Given the description of an element on the screen output the (x, y) to click on. 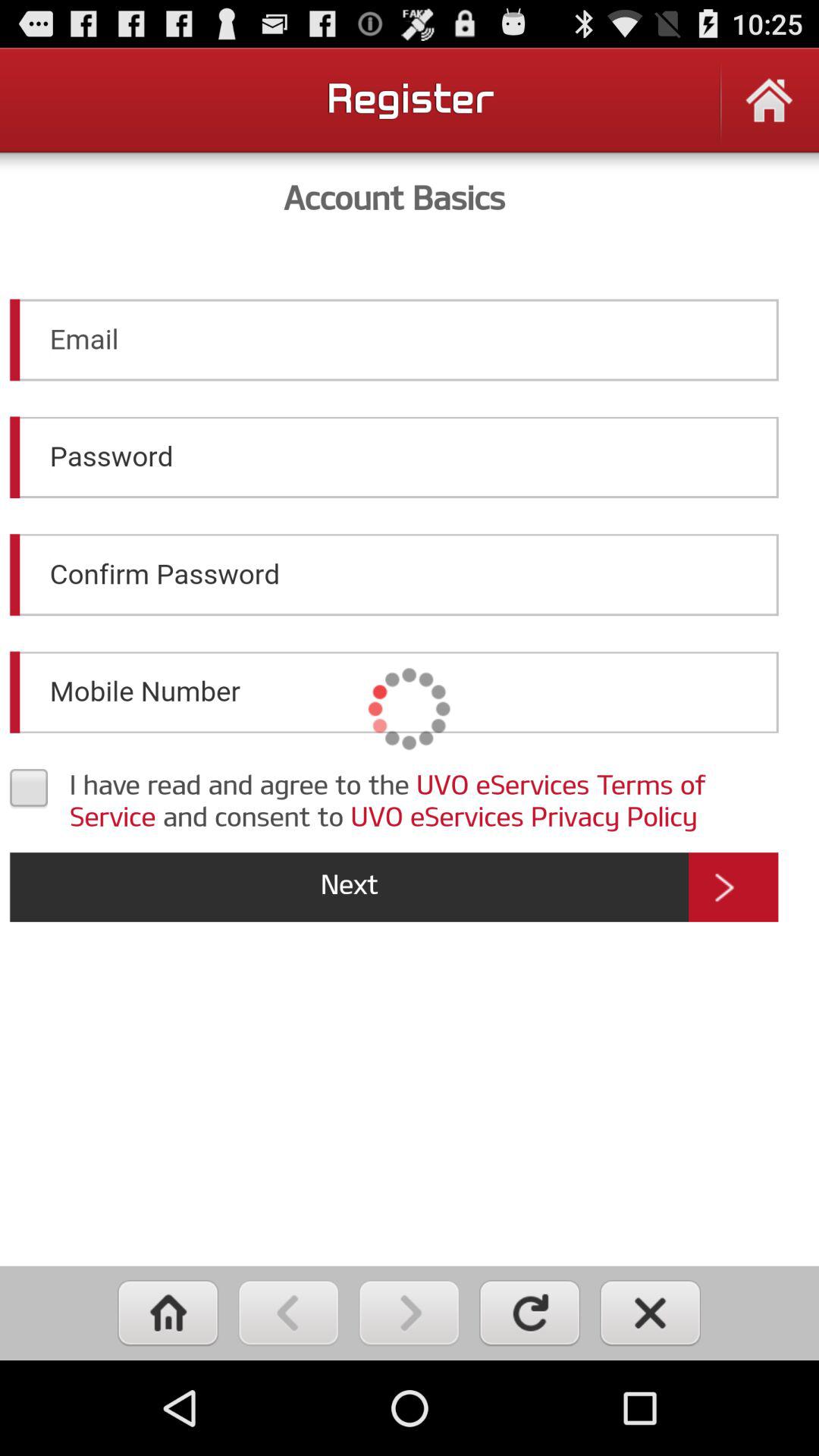
previous (288, 1313)
